Given the description of an element on the screen output the (x, y) to click on. 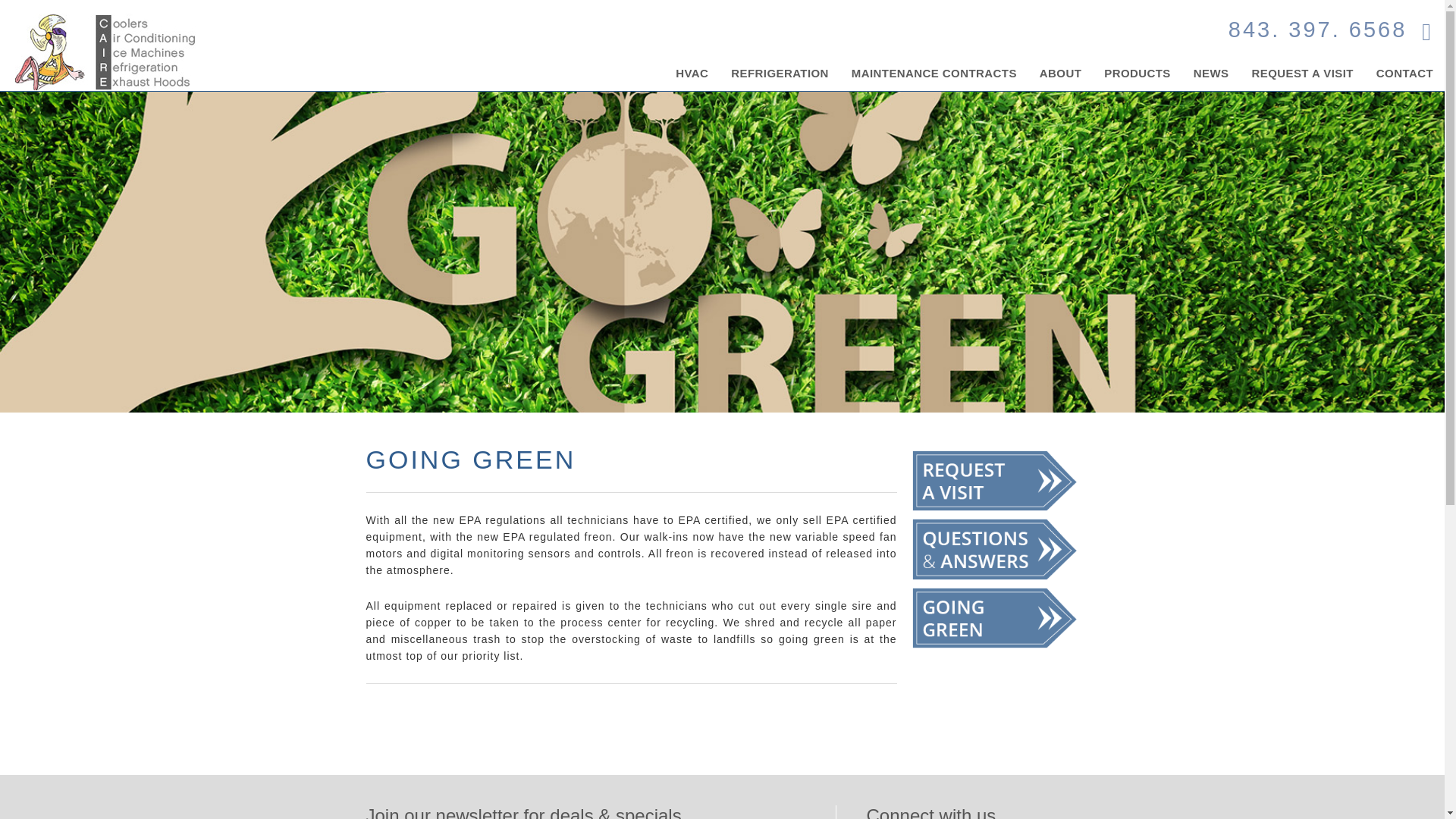
REFRIGERATION (779, 72)
ABOUT (1060, 72)
HVAC (691, 72)
843. 397. 6568 (1317, 27)
REQUEST A VISIT (1302, 72)
MAINTENANCE CONTRACTS (933, 72)
NEWS (1211, 72)
PRODUCTS (1137, 72)
